Given the description of an element on the screen output the (x, y) to click on. 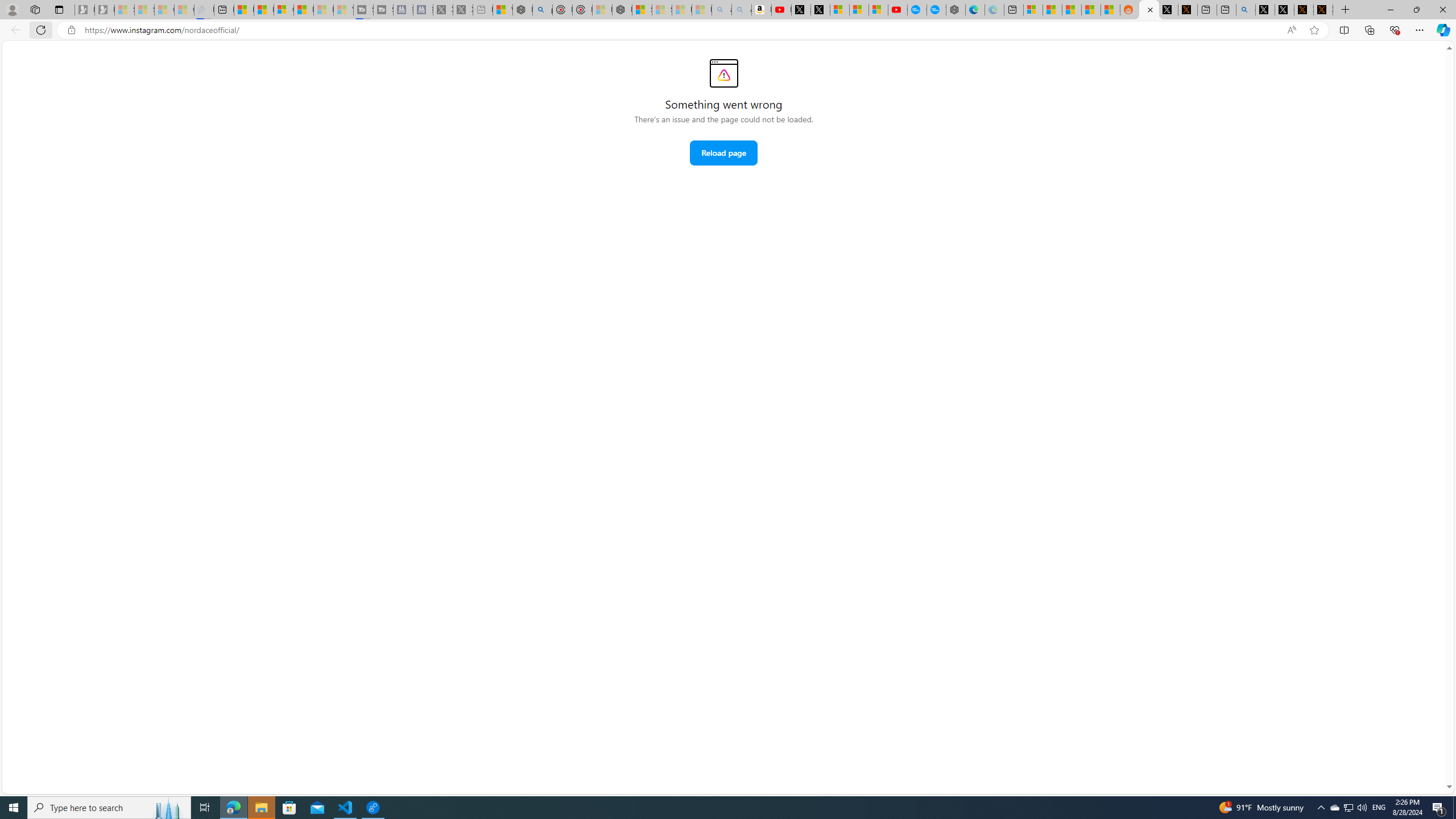
Shanghai, China hourly forecast | Microsoft Weather (1071, 9)
Newsletter Sign Up - Sleeping (104, 9)
The most popular Google 'how to' searches (935, 9)
New tab - Sleeping (482, 9)
